Given the description of an element on the screen output the (x, y) to click on. 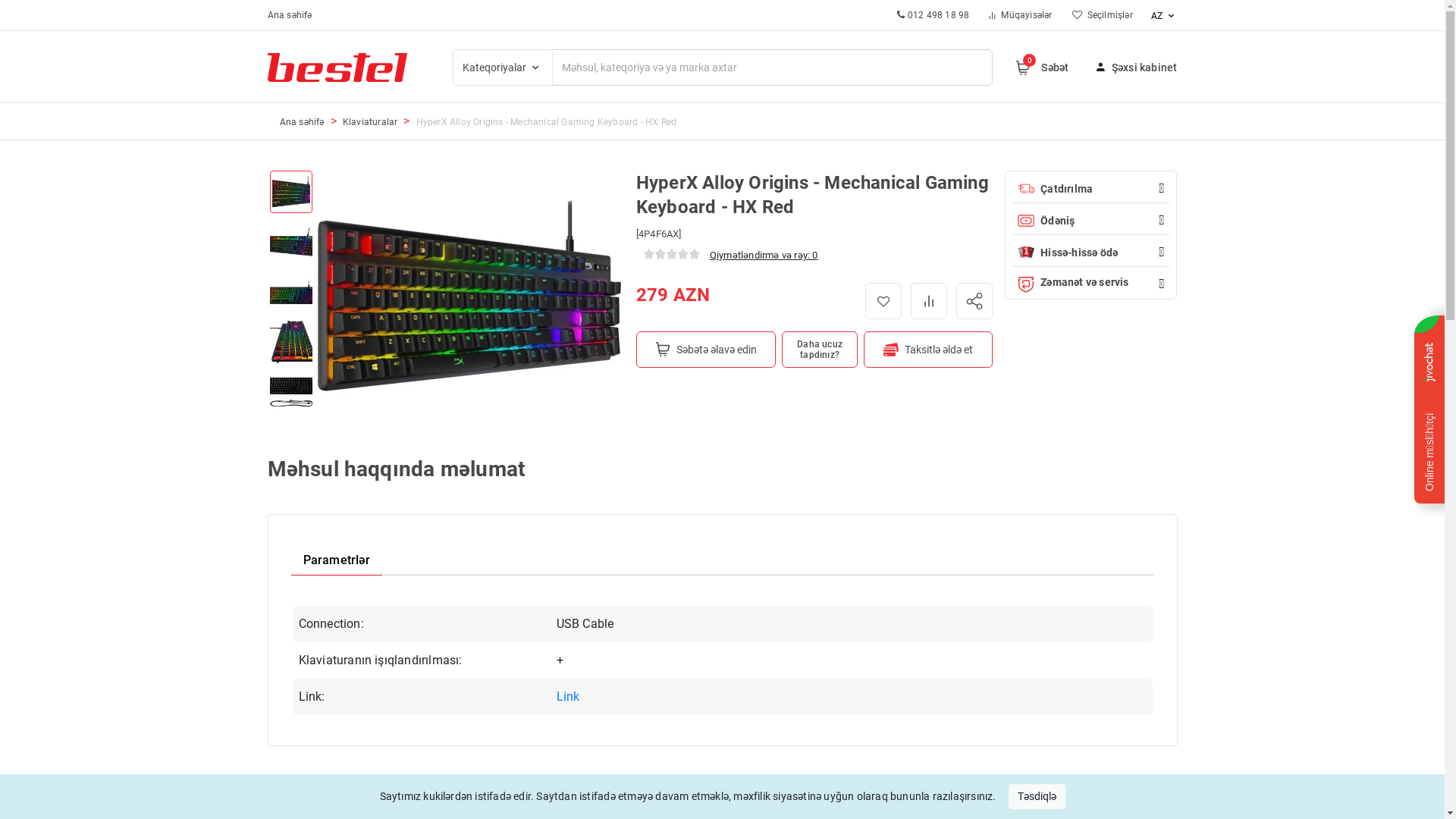
Kateqoriyalar Element type: text (501, 67)
AZ Element type: text (1154, 15)
012 498 18 98 Element type: text (931, 14)
Klaviaturalar Element type: text (370, 121)
HyperX Alloy Origins - Mechanical Gaming Keyboard - HX Red Element type: text (546, 121)
Link Element type: text (568, 696)
